Given the description of an element on the screen output the (x, y) to click on. 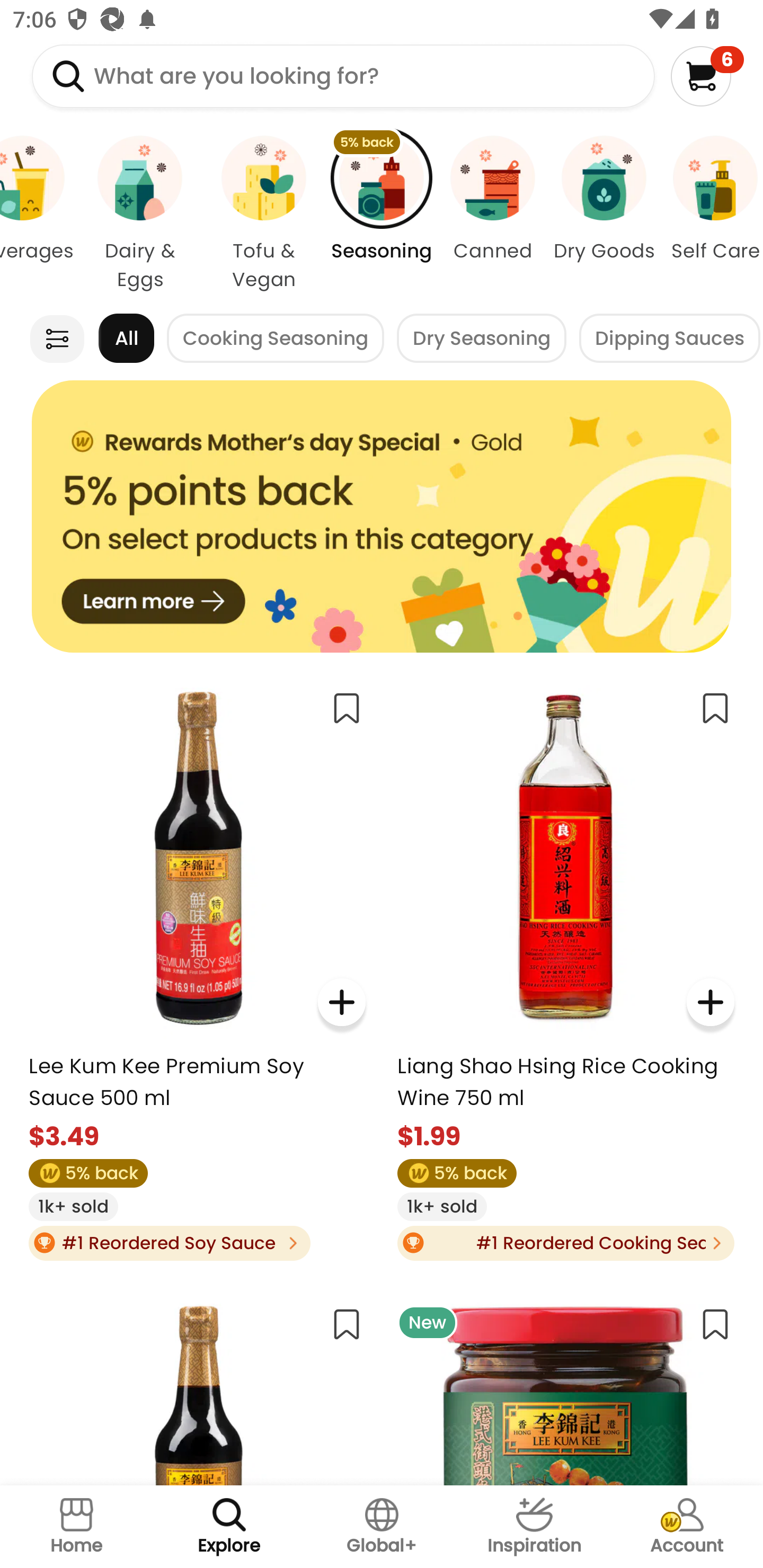
What are you looking for? (343, 75)
6 (706, 75)
Beverages (38, 214)
Dairy & Eggs (139, 214)
Tofu & Vegan (263, 214)
5% back Seasoning (381, 214)
Canned (492, 214)
Dry Goods (603, 214)
Self Care (711, 214)
All (126, 337)
Cooking Seasoning (275, 337)
Dry Seasoning (481, 337)
Dipping Sauces (669, 337)
New (565, 1388)
Home (76, 1526)
Explore (228, 1526)
Global+ (381, 1526)
Inspiration (533, 1526)
Account (686, 1526)
